Given the description of an element on the screen output the (x, y) to click on. 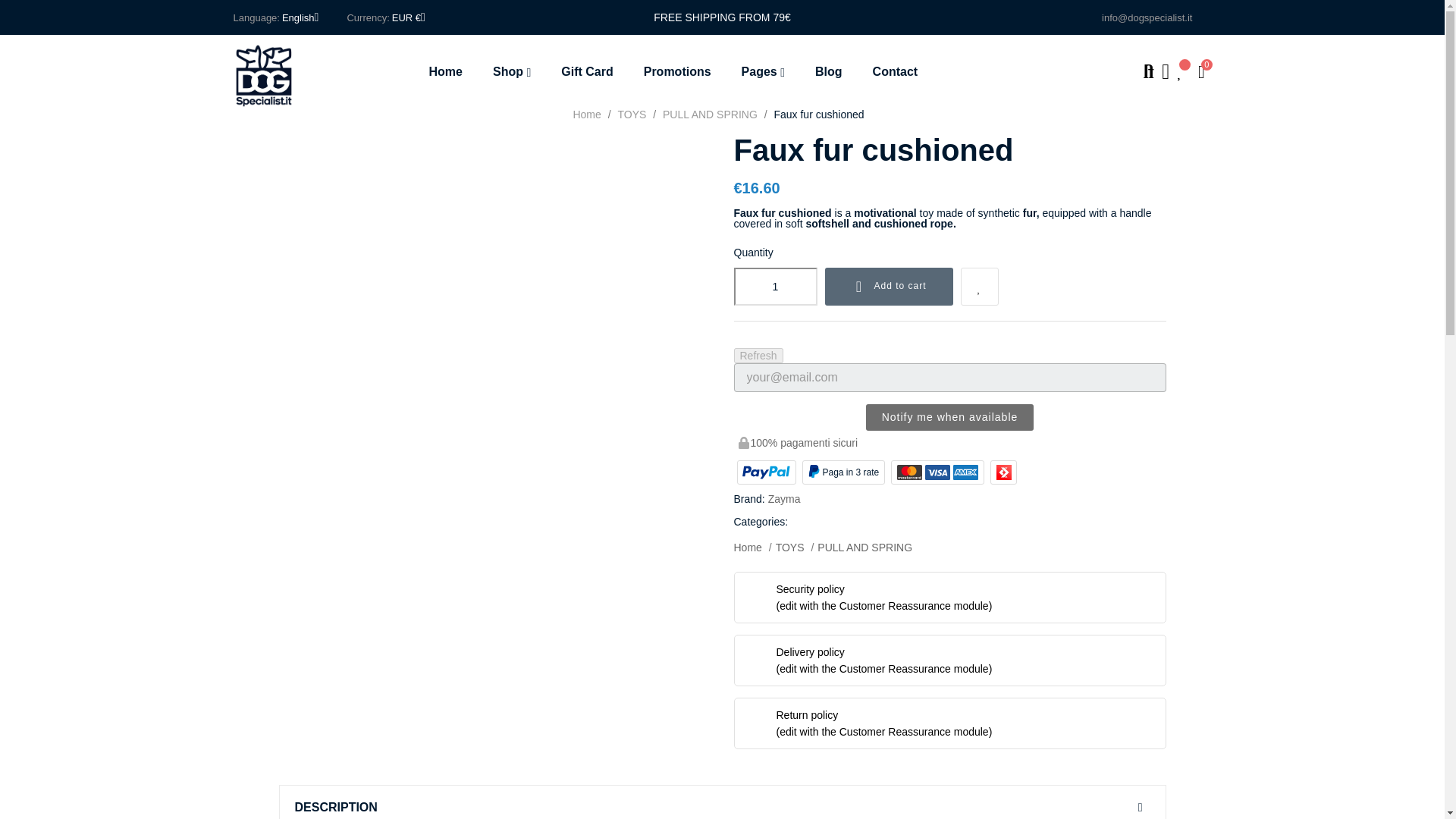
English (300, 17)
Shop (511, 71)
1 (774, 286)
Refresh (758, 355)
Add to Wishlist (979, 286)
Home (453, 71)
